Given the description of an element on the screen output the (x, y) to click on. 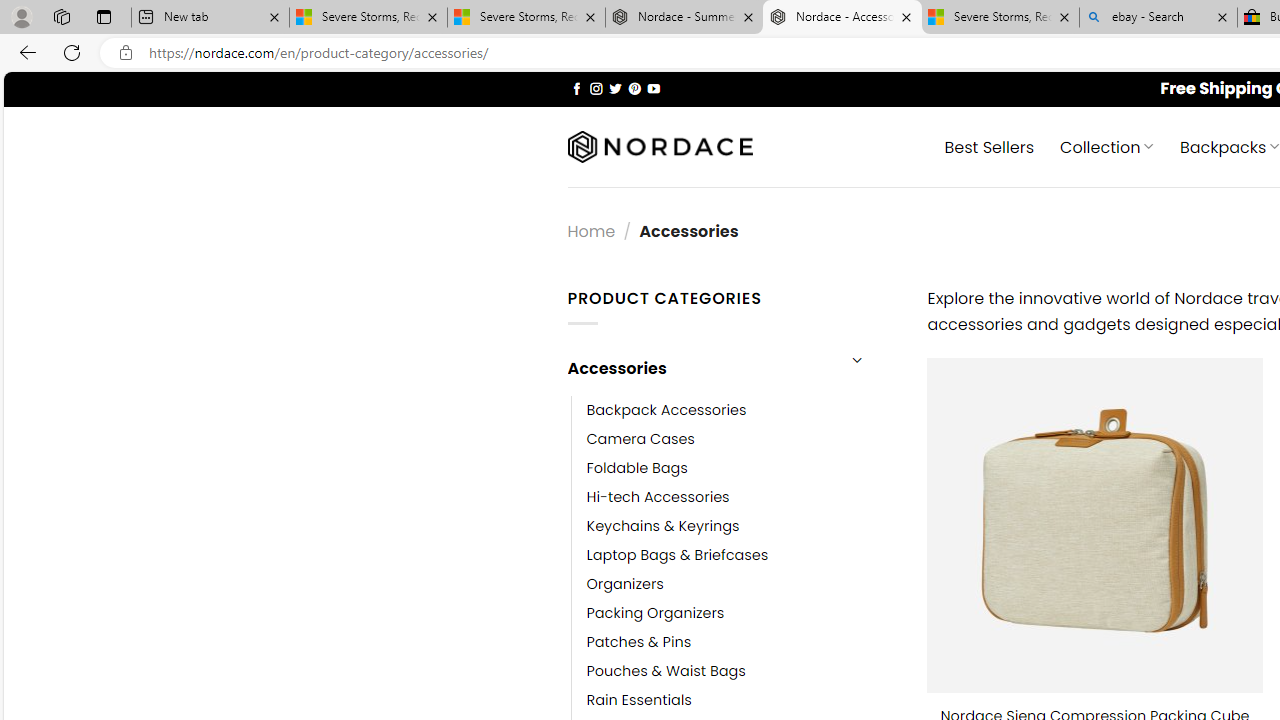
Foldable Bags (742, 467)
Rain Essentials (639, 700)
Organizers (742, 584)
Follow on Instagram (596, 88)
Packing Organizers (655, 614)
Patches & Pins (742, 642)
View site information (125, 53)
 Best Sellers (989, 146)
Camera Cases (640, 439)
Foldable Bags (637, 467)
Keychains & Keyrings (662, 526)
Organizers (625, 584)
Home (591, 230)
